Given the description of an element on the screen output the (x, y) to click on. 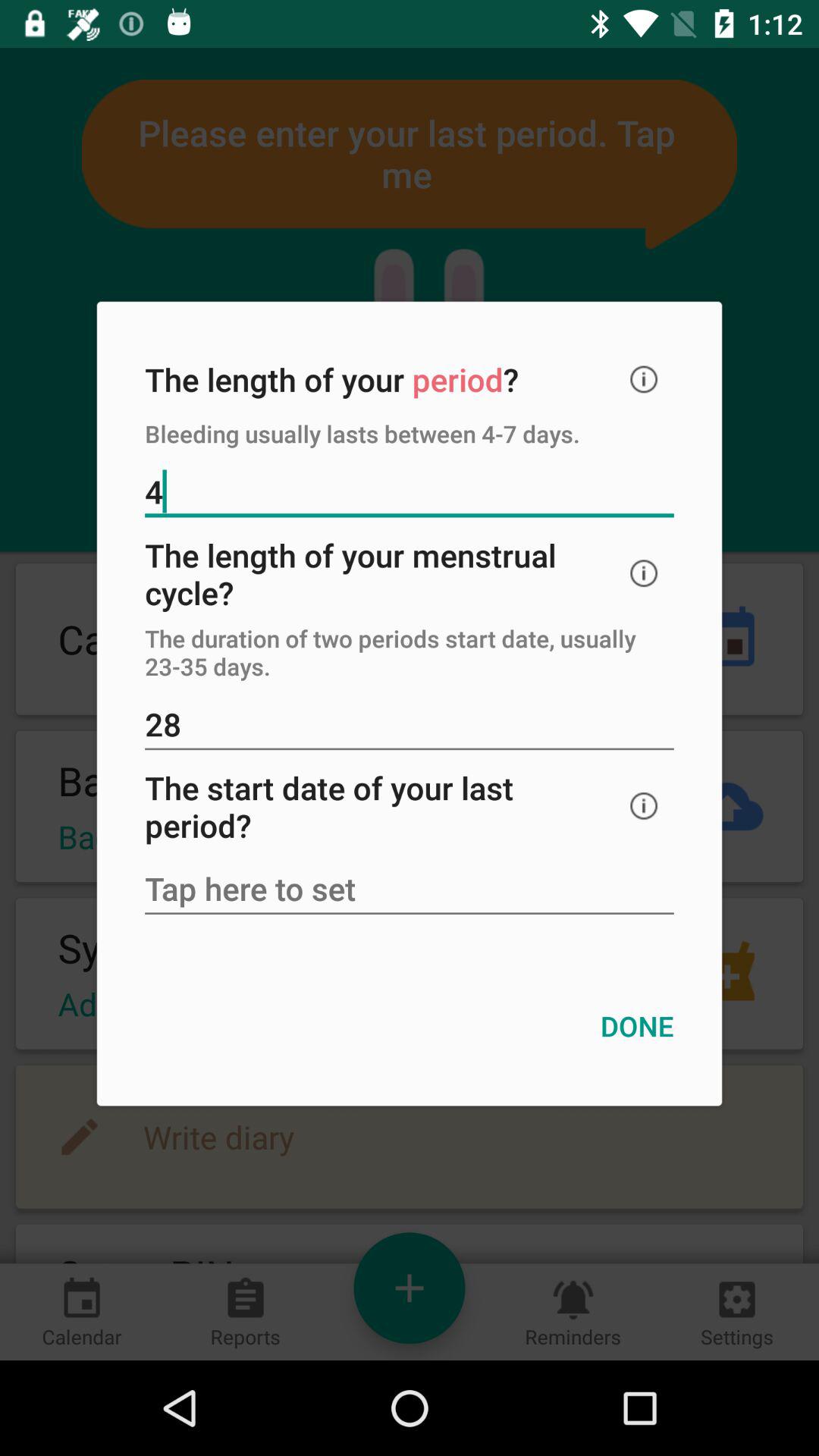
flip to done icon (636, 1025)
